Given the description of an element on the screen output the (x, y) to click on. 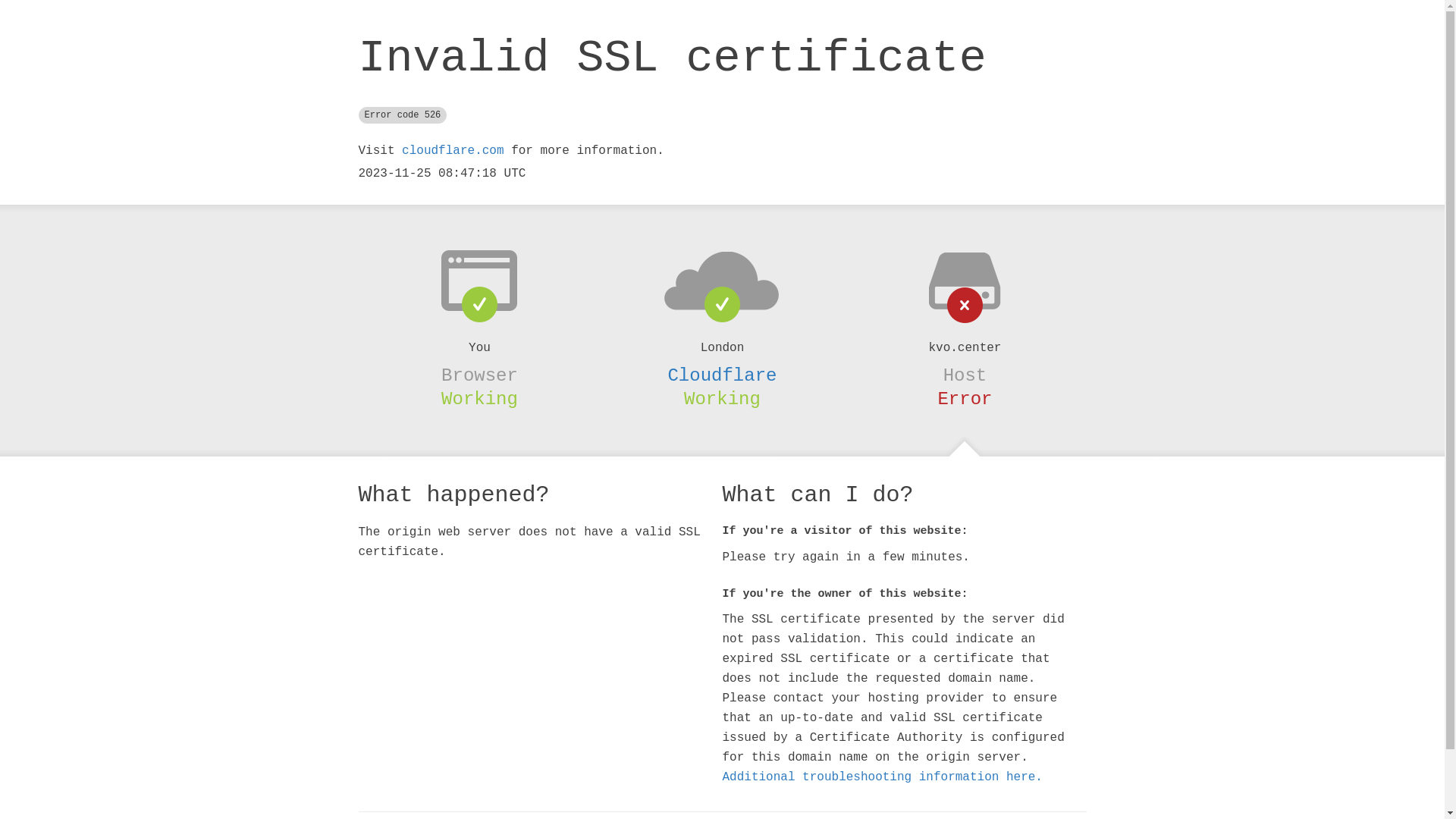
cloudflare.com Element type: text (452, 150)
Additional troubleshooting information here. Element type: text (881, 777)
Cloudflare Element type: text (721, 375)
